Given the description of an element on the screen output the (x, y) to click on. 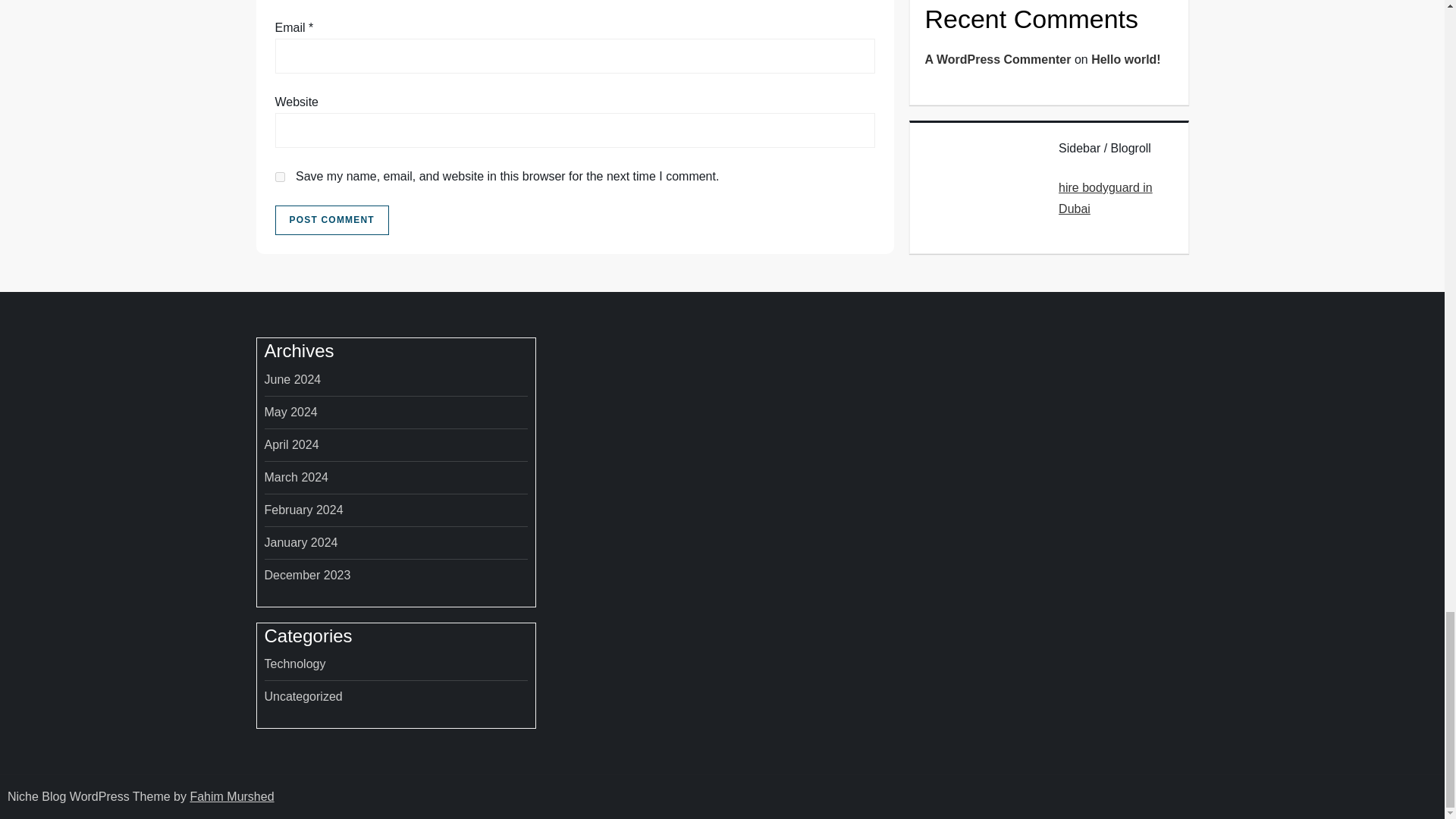
Post Comment (331, 220)
June 2024 (291, 379)
February 2024 (302, 509)
Post Comment (331, 220)
March 2024 (296, 477)
Uncategorized (302, 696)
December 2023 (306, 575)
May 2024 (290, 412)
yes (279, 176)
Technology (293, 663)
April 2024 (290, 444)
Fahim Murshed (231, 796)
January 2024 (300, 542)
